Given the description of an element on the screen output the (x, y) to click on. 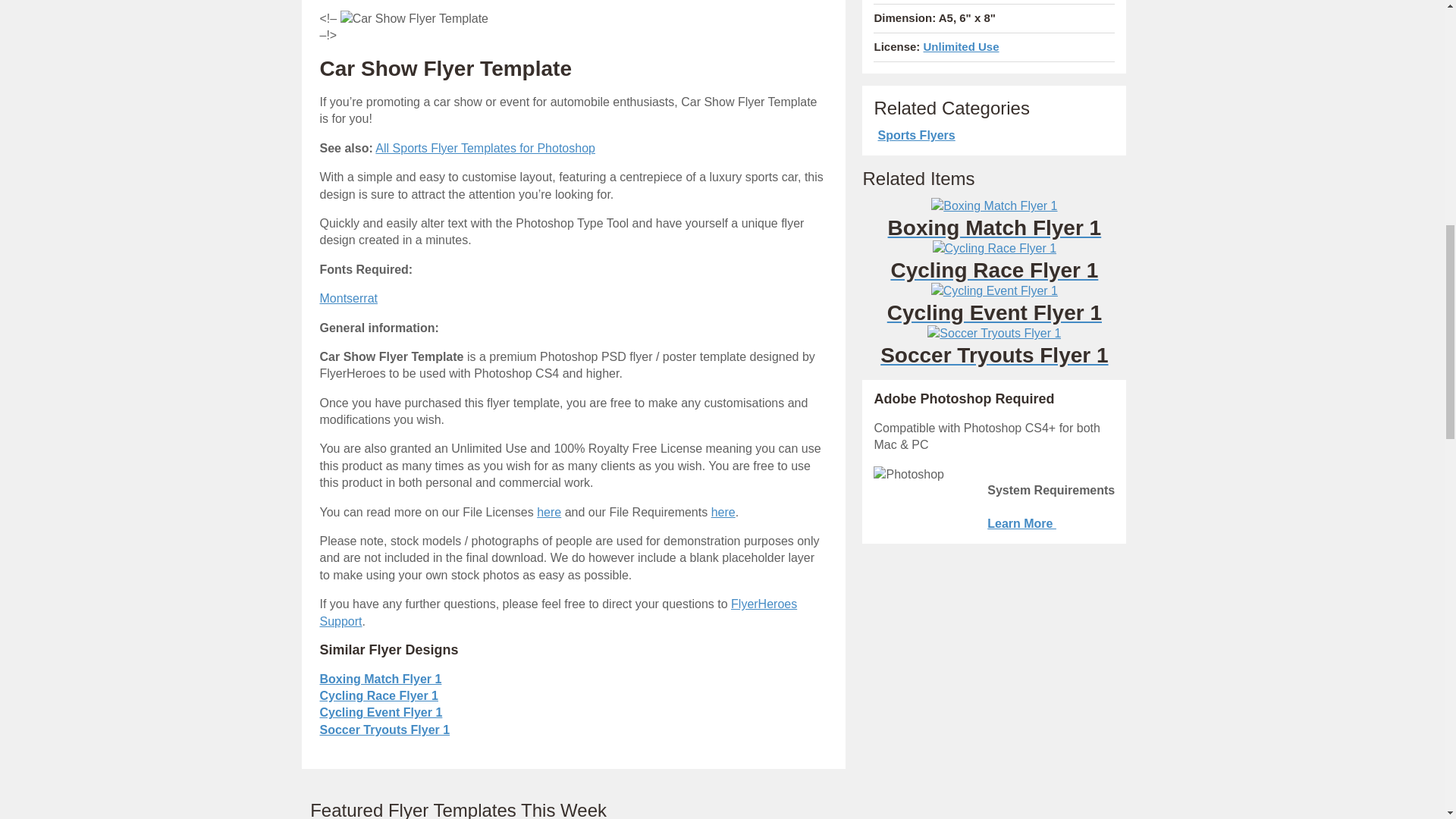
Montserrat (348, 297)
File (548, 512)
Soccer Tryouts Flyer 1 (384, 729)
Cycling Event Flyer 1 (381, 712)
Boxing Match Flyer 1 (993, 219)
Cycling Race Flyer 1 (379, 695)
Soccer Tryouts Flyer 1 (993, 346)
Cycling Event Flyer 1 (993, 304)
Boxing Match Flyer 1 (381, 678)
File (723, 512)
Cycling Race Flyer 1 (993, 261)
Sports Flyer Templates for Photoshop (485, 147)
FlyerHeroes (558, 612)
